Given the description of an element on the screen output the (x, y) to click on. 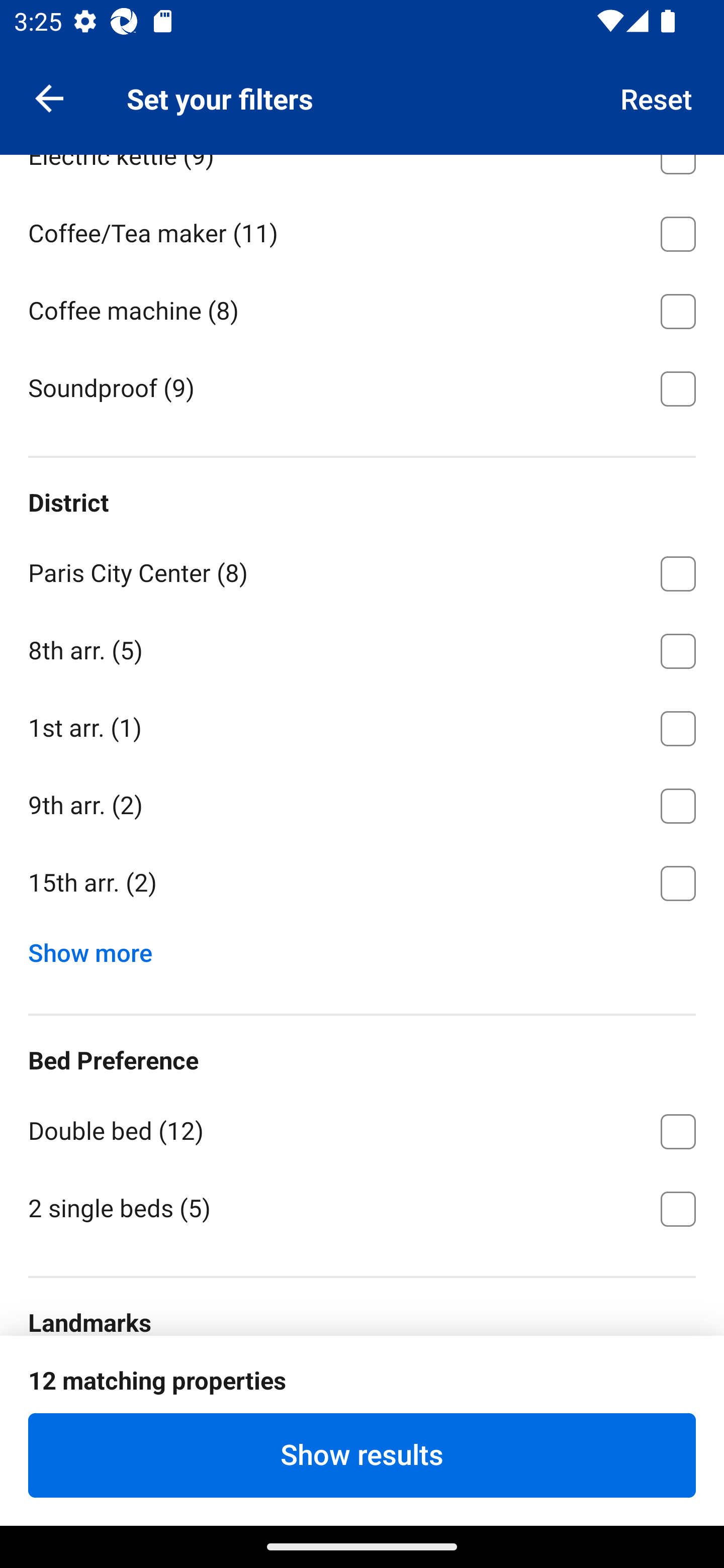
Spa tub ⁦(1) (361, 75)
Navigate up (49, 97)
Reset (656, 97)
Coffee/Tea maker ⁦(11) (361, 230)
Coffee machine ⁦(8) (361, 307)
Soundproof ⁦(9) (361, 387)
Paris City Center ⁦(8) (361, 569)
8th arr. ⁦(5) (361, 647)
1st arr. ⁦(1) (361, 724)
9th arr. ⁦(2) (361, 802)
15th arr. ⁦(2) (361, 883)
Show more (97, 948)
Double bed ⁦(12) (361, 1127)
2 single beds ⁦(5) (361, 1207)
Eiffel Tower ⁦(1) (361, 1390)
Show results (361, 1454)
